Given the description of an element on the screen output the (x, y) to click on. 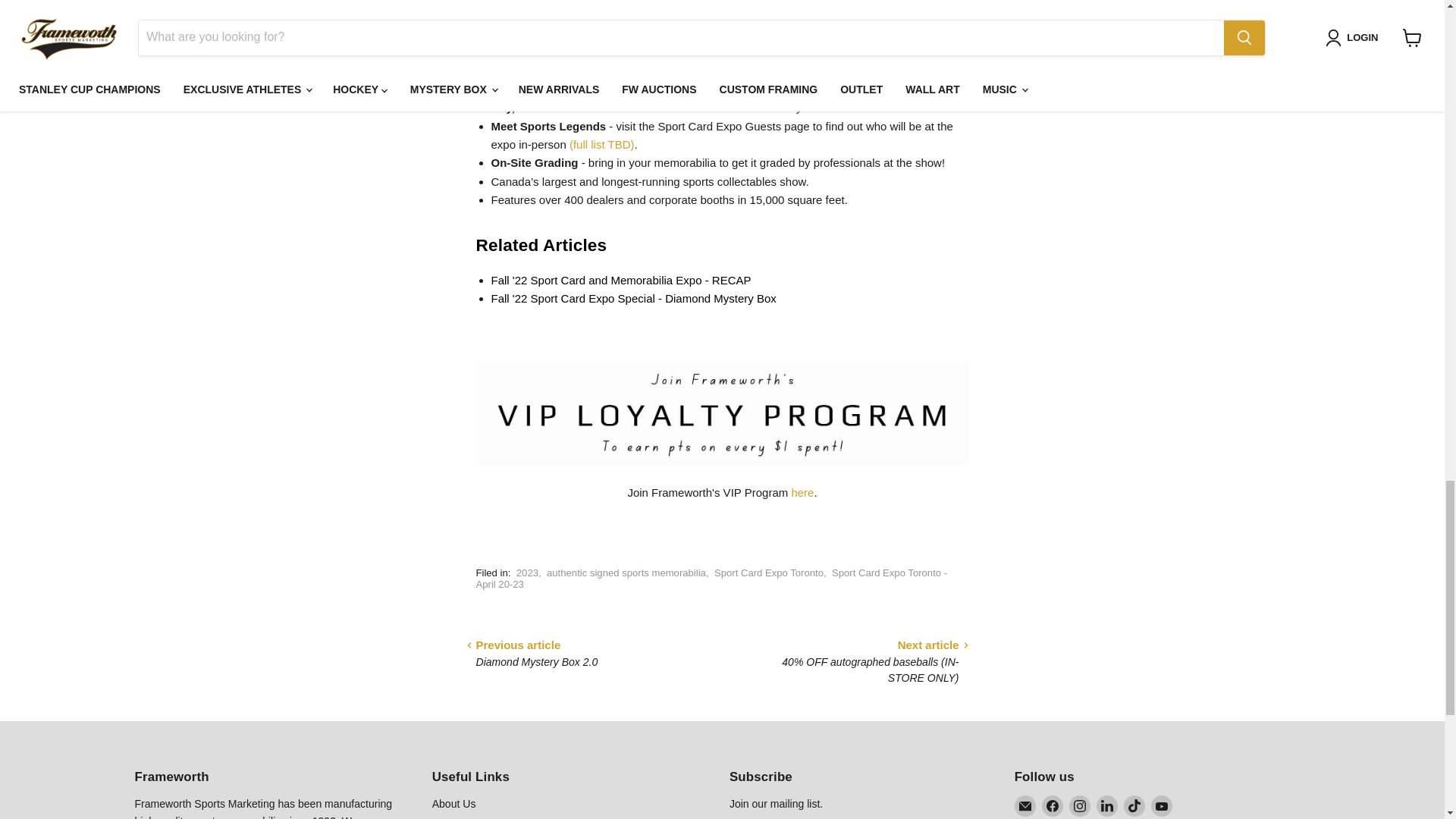
Show articles tagged 2023 (527, 572)
Show articles tagged Sport Card Expo Toronto - April 20-23 (711, 578)
Toronto Sport Card Expo. Frameworth Sports (621, 279)
Email (1024, 805)
LinkedIn (1107, 805)
YouTube (1161, 805)
Instagram (1079, 805)
Toronto Sport Card Expo Guests. Frameworth Sports (601, 144)
Show articles tagged authentic signed sports memorabilia (626, 572)
TikTok (1134, 805)
